Given the description of an element on the screen output the (x, y) to click on. 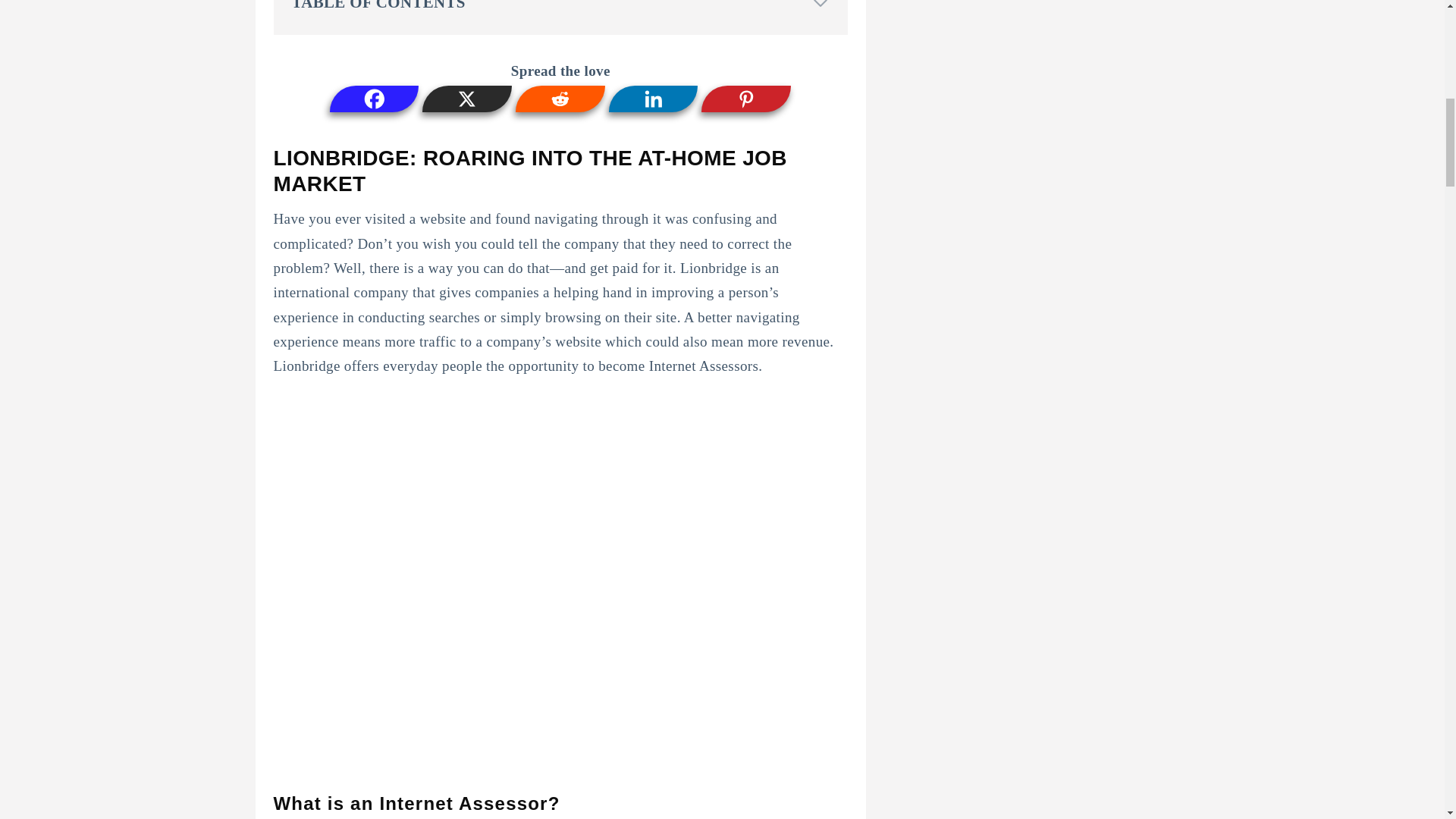
Pinterest (746, 98)
Linkedin (653, 98)
Facebook (375, 98)
X (467, 98)
Reddit (560, 98)
